Given the description of an element on the screen output the (x, y) to click on. 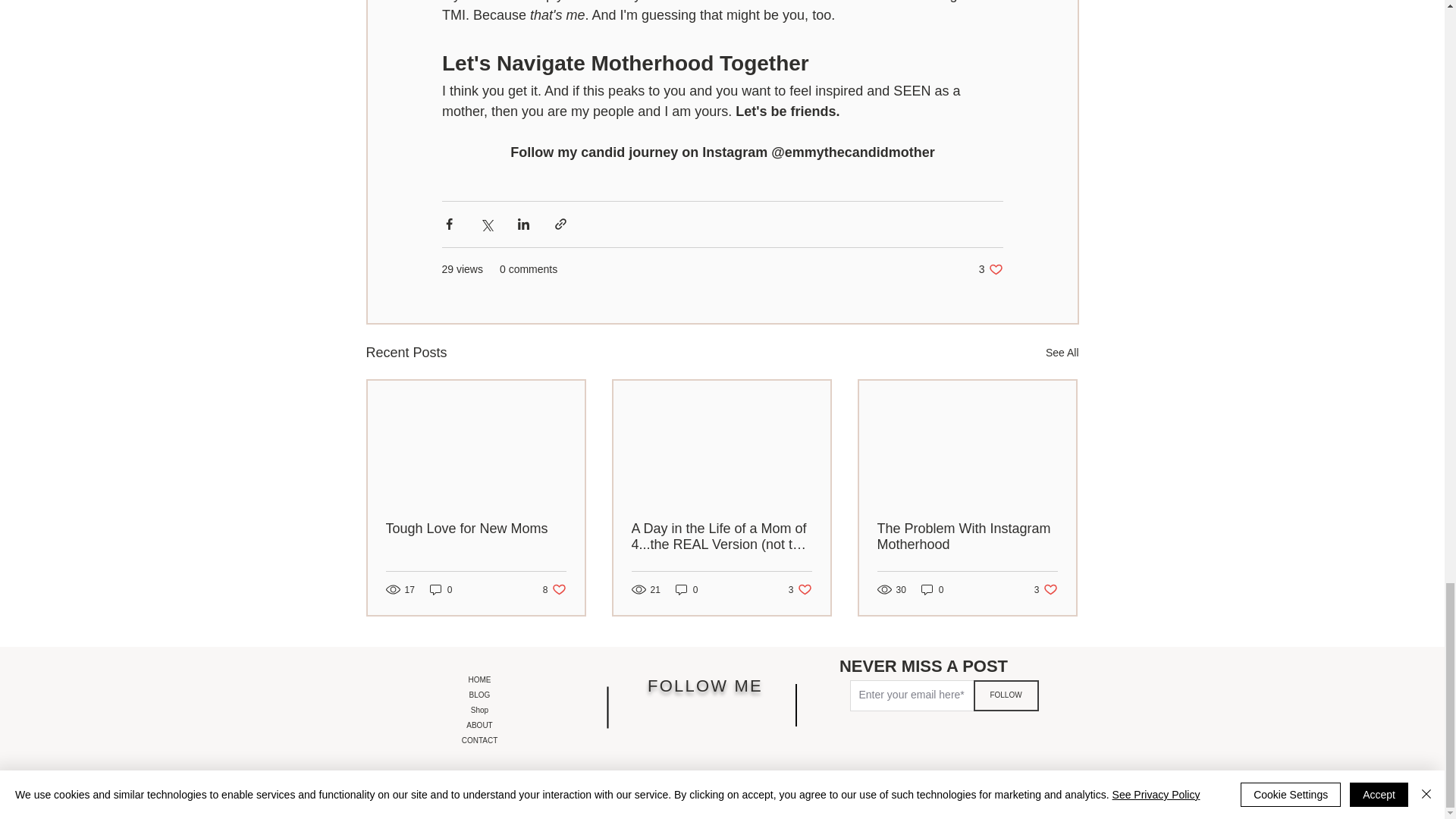
0 (441, 589)
Tough Love for New Moms (475, 528)
BLOG (478, 694)
The Problem With Instagram Motherhood (800, 589)
HOME (966, 536)
CONTACT (1045, 589)
Shop (478, 679)
ABOUT (478, 740)
0 (554, 589)
See All (478, 710)
0 (990, 269)
